Given the description of an element on the screen output the (x, y) to click on. 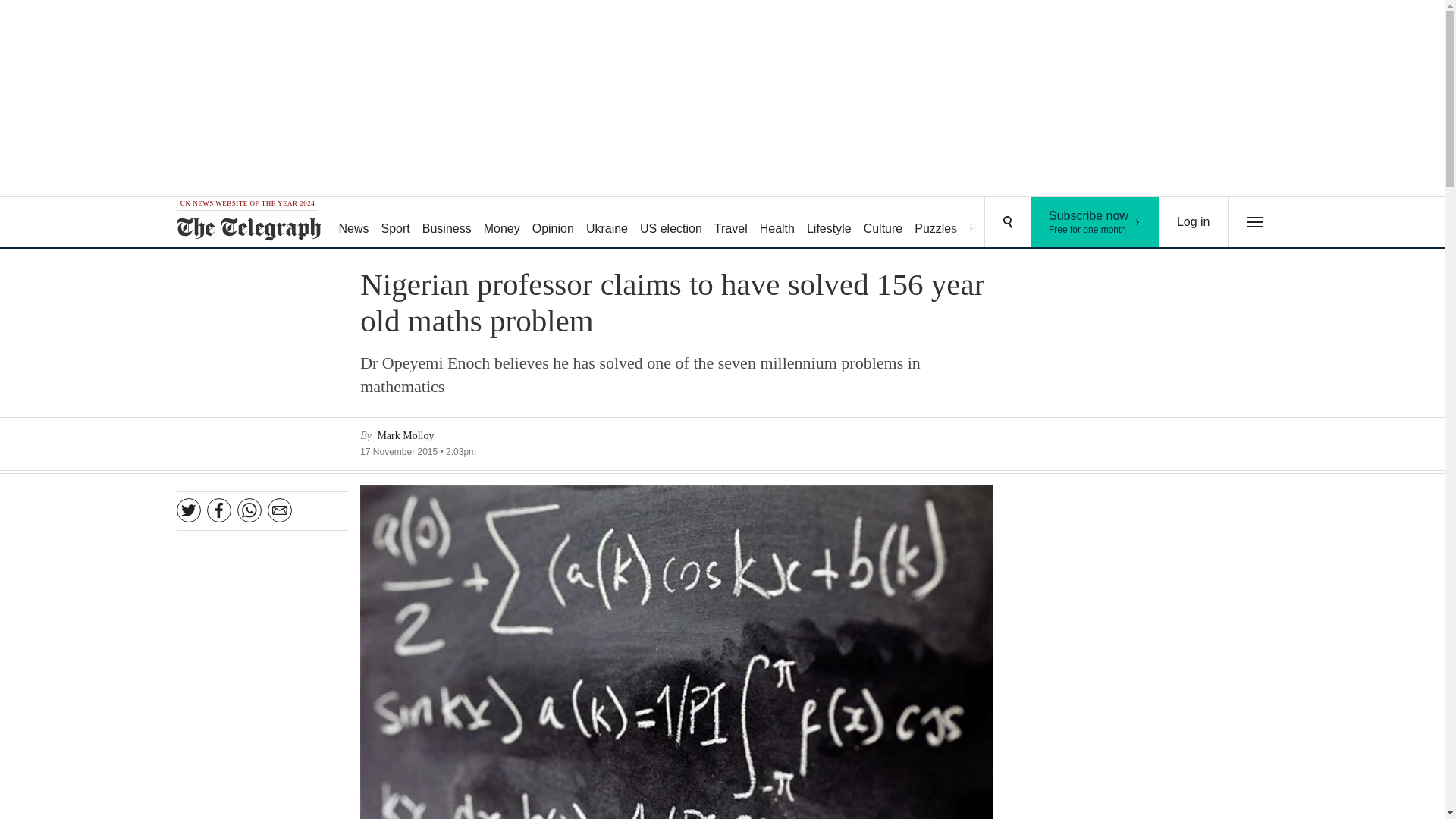
Puzzles (935, 223)
US election (670, 223)
Travel (730, 223)
Log in (1193, 222)
Health (777, 223)
Podcasts (993, 223)
Business (446, 223)
Money (501, 223)
Opinion (552, 223)
Culture (882, 223)
